Given the description of an element on the screen output the (x, y) to click on. 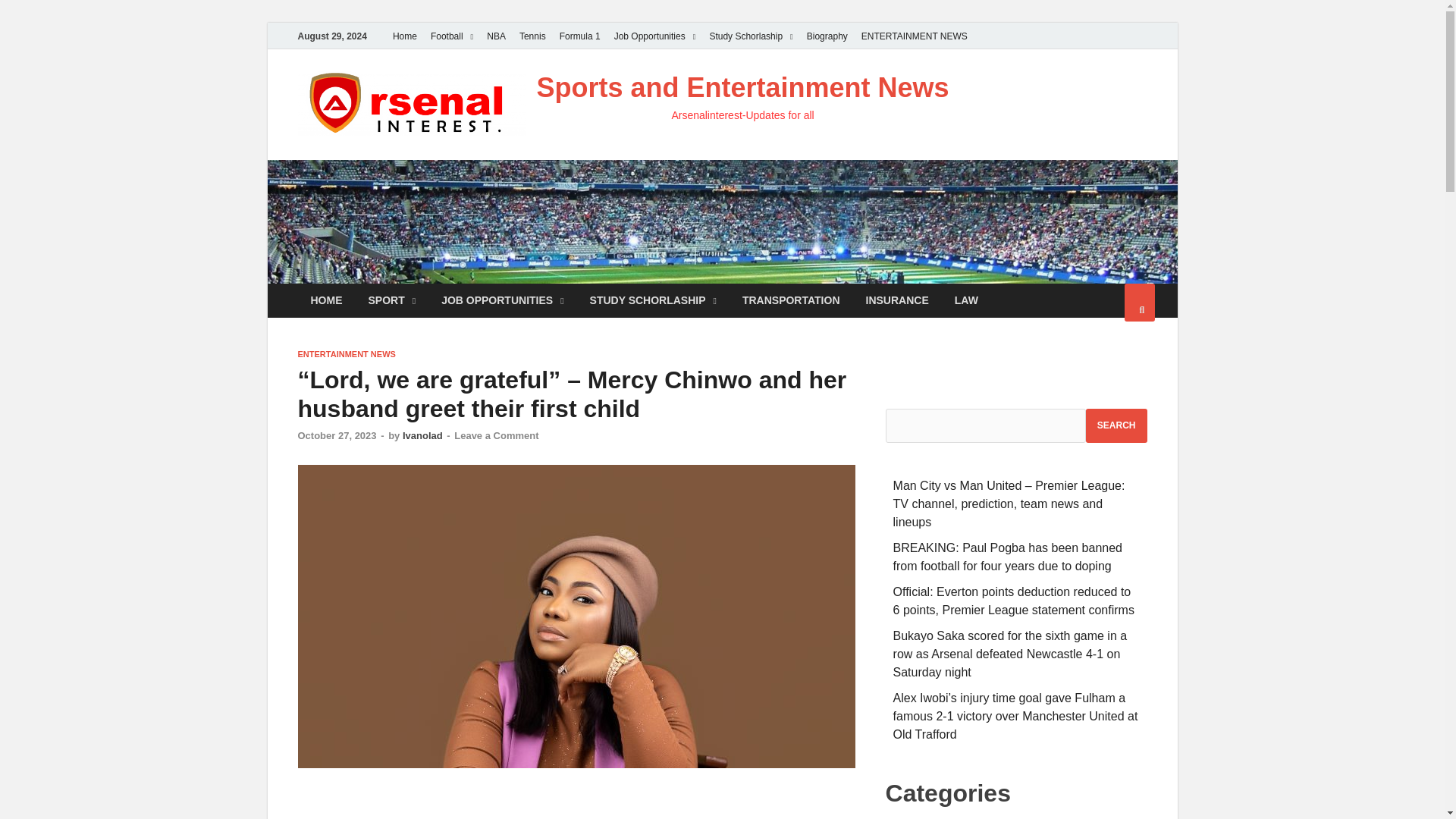
Formula 1 (580, 35)
Study Schorlaship (750, 35)
NBA (496, 35)
HOME (326, 300)
Job Opportunities (655, 35)
STUDY SCHORLASHIP (652, 300)
INSURANCE (897, 300)
TRANSPORTATION (791, 300)
JOB OPPORTUNITIES (502, 300)
SPORT (391, 300)
